Given the description of an element on the screen output the (x, y) to click on. 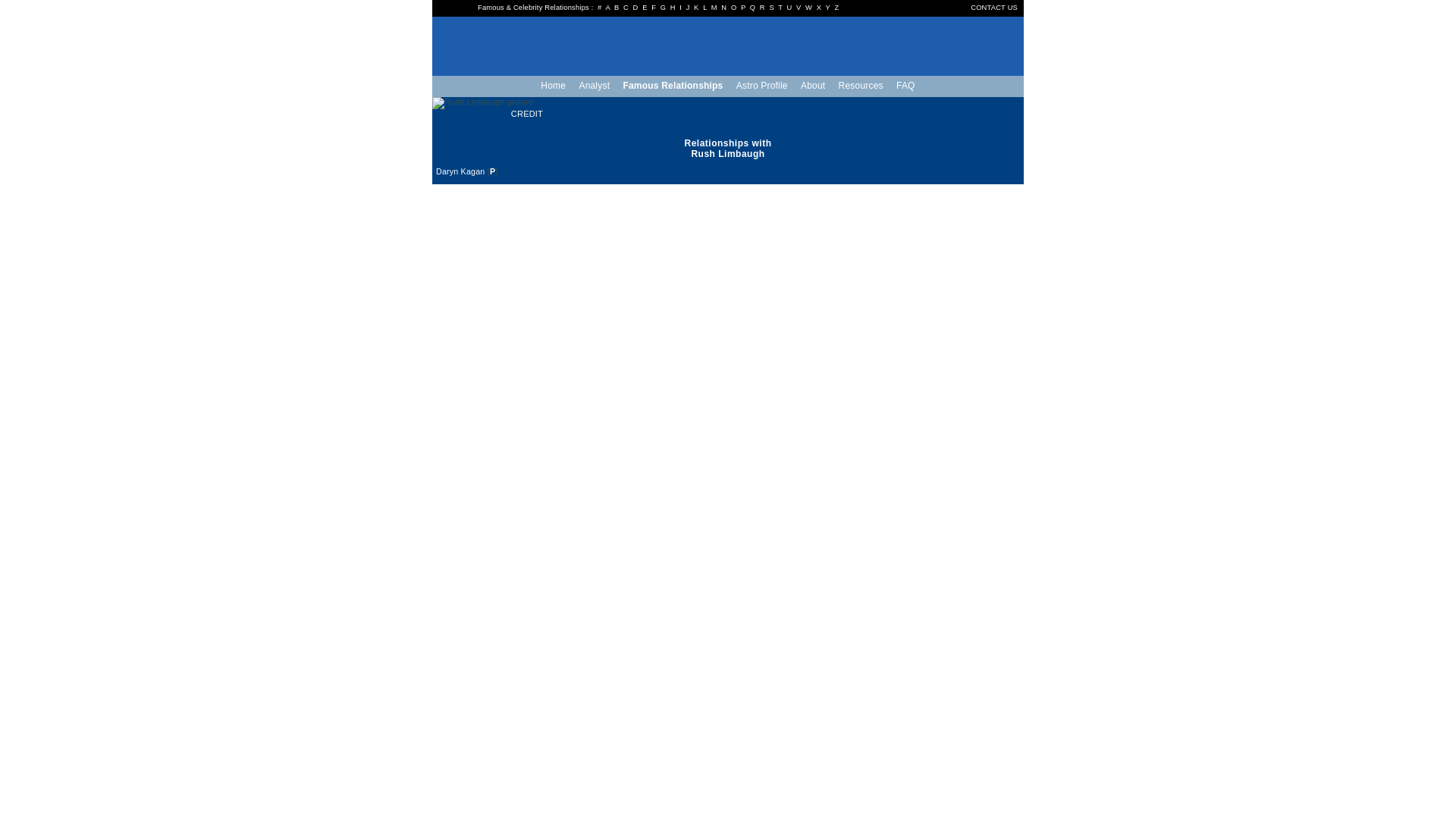
FAQ (905, 85)
Famous Relationships (672, 85)
About (811, 85)
Astro Profile (761, 85)
CONTACT US (994, 7)
CREDIT (528, 112)
Home (552, 85)
W (808, 7)
Analyst (593, 85)
Daryn Kagan (459, 171)
Resources (860, 85)
